Given the description of an element on the screen output the (x, y) to click on. 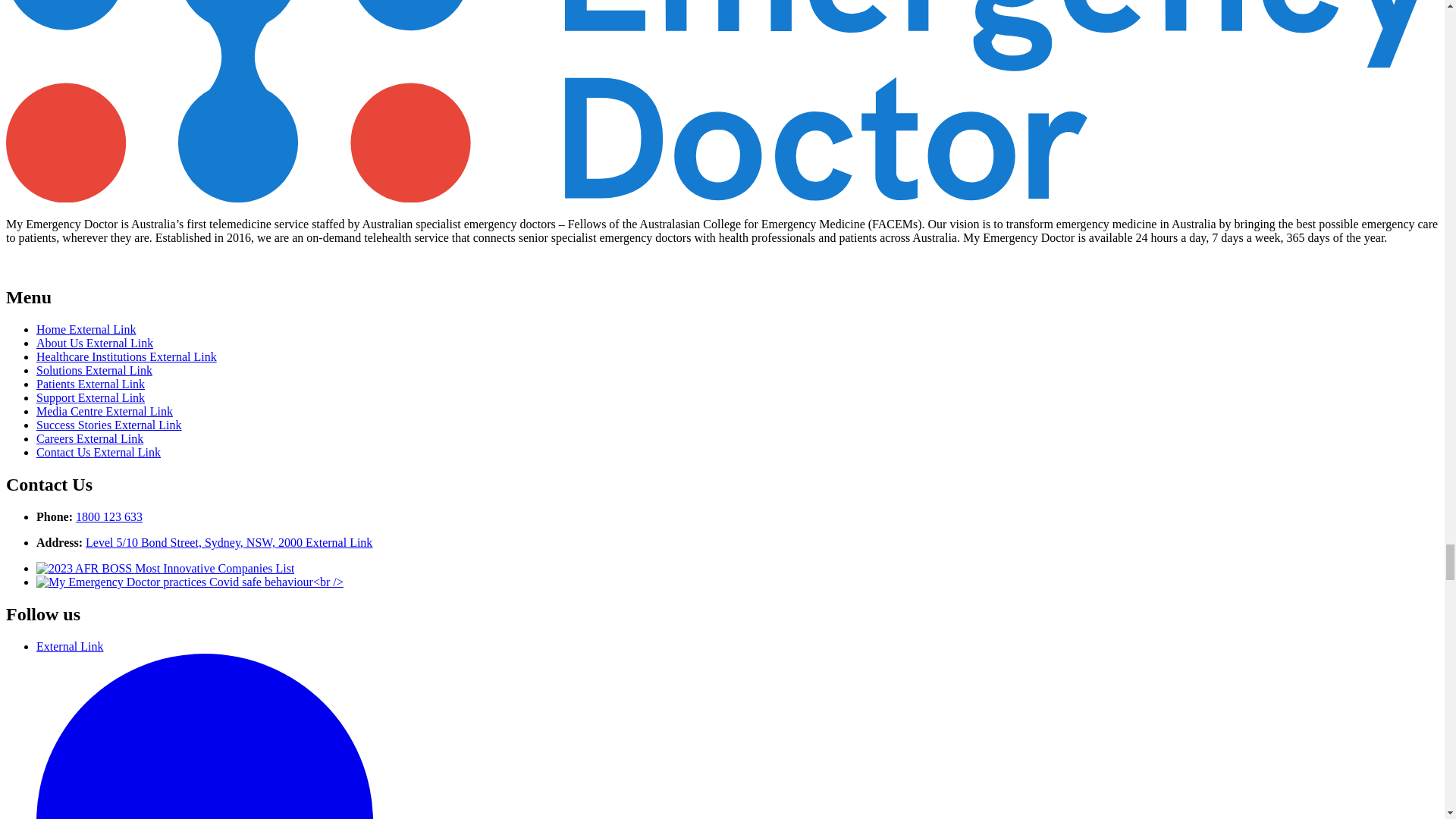
Address (228, 542)
Phone (108, 516)
Visit the NSW Gov Covid Safe website to find out more (189, 581)
2023 AFR BOSS Most Innovative Companies List (165, 567)
